Given the description of an element on the screen output the (x, y) to click on. 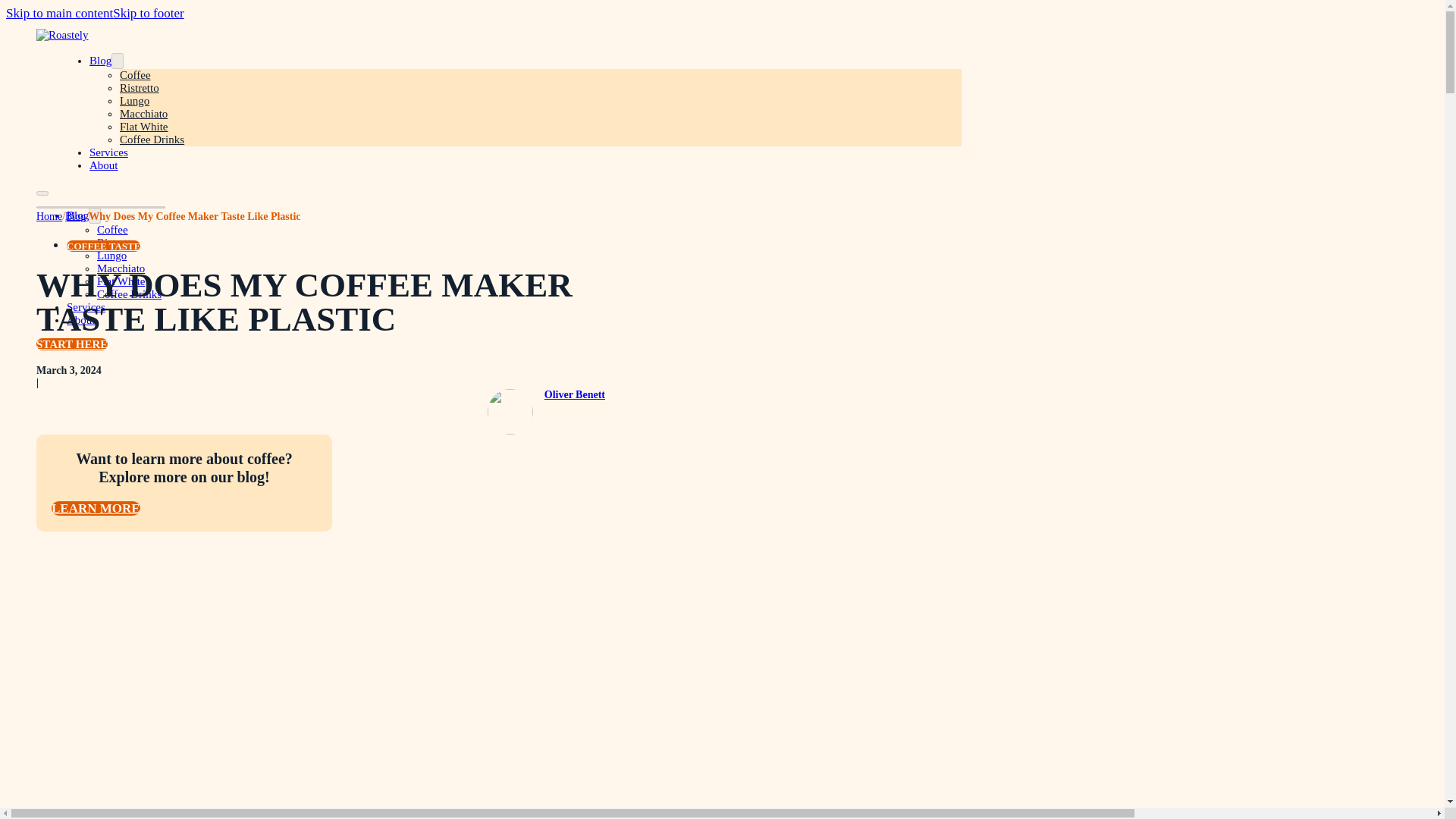
Coffee Drinks (129, 294)
Blog (77, 215)
Services (85, 306)
Home (49, 215)
Blog (75, 215)
Macchiato (120, 268)
Coffee (112, 229)
Services (108, 152)
Ristretto (116, 242)
Macchiato (143, 113)
LEARN MORE (94, 508)
Flat White (120, 281)
About (102, 164)
Lungo (134, 101)
Coffee (135, 74)
